Given the description of an element on the screen output the (x, y) to click on. 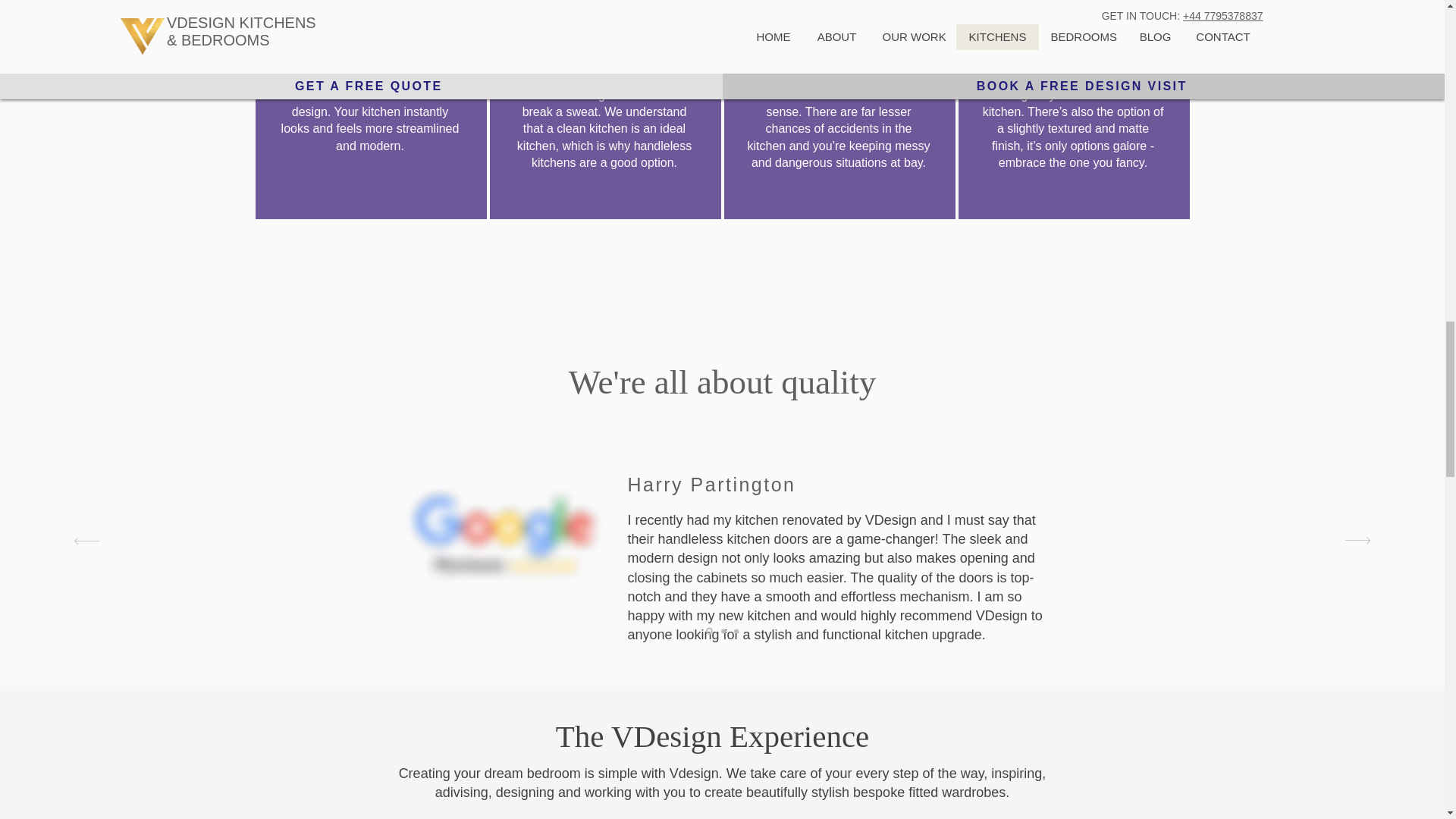
Harry Partington (711, 484)
